Given the description of an element on the screen output the (x, y) to click on. 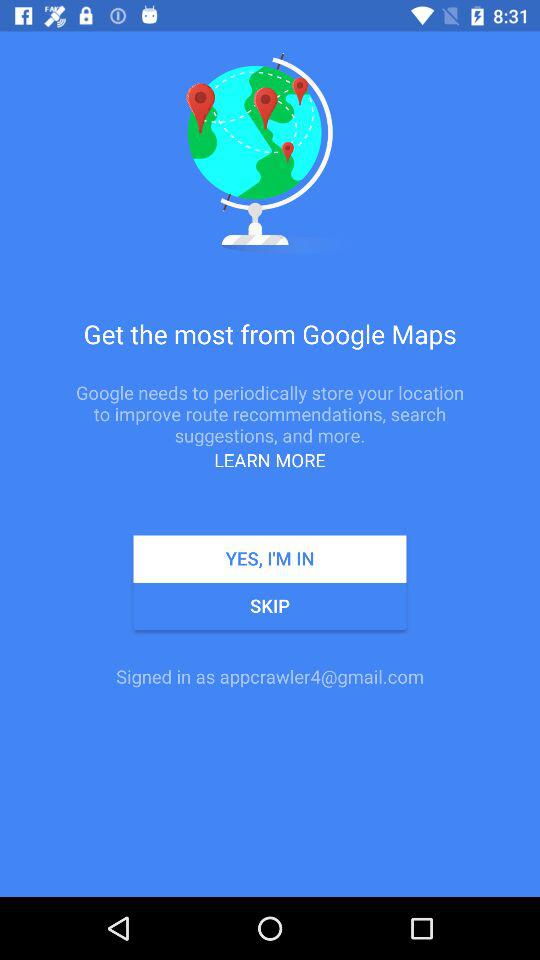
turn off app below google needs to app (269, 459)
